Given the description of an element on the screen output the (x, y) to click on. 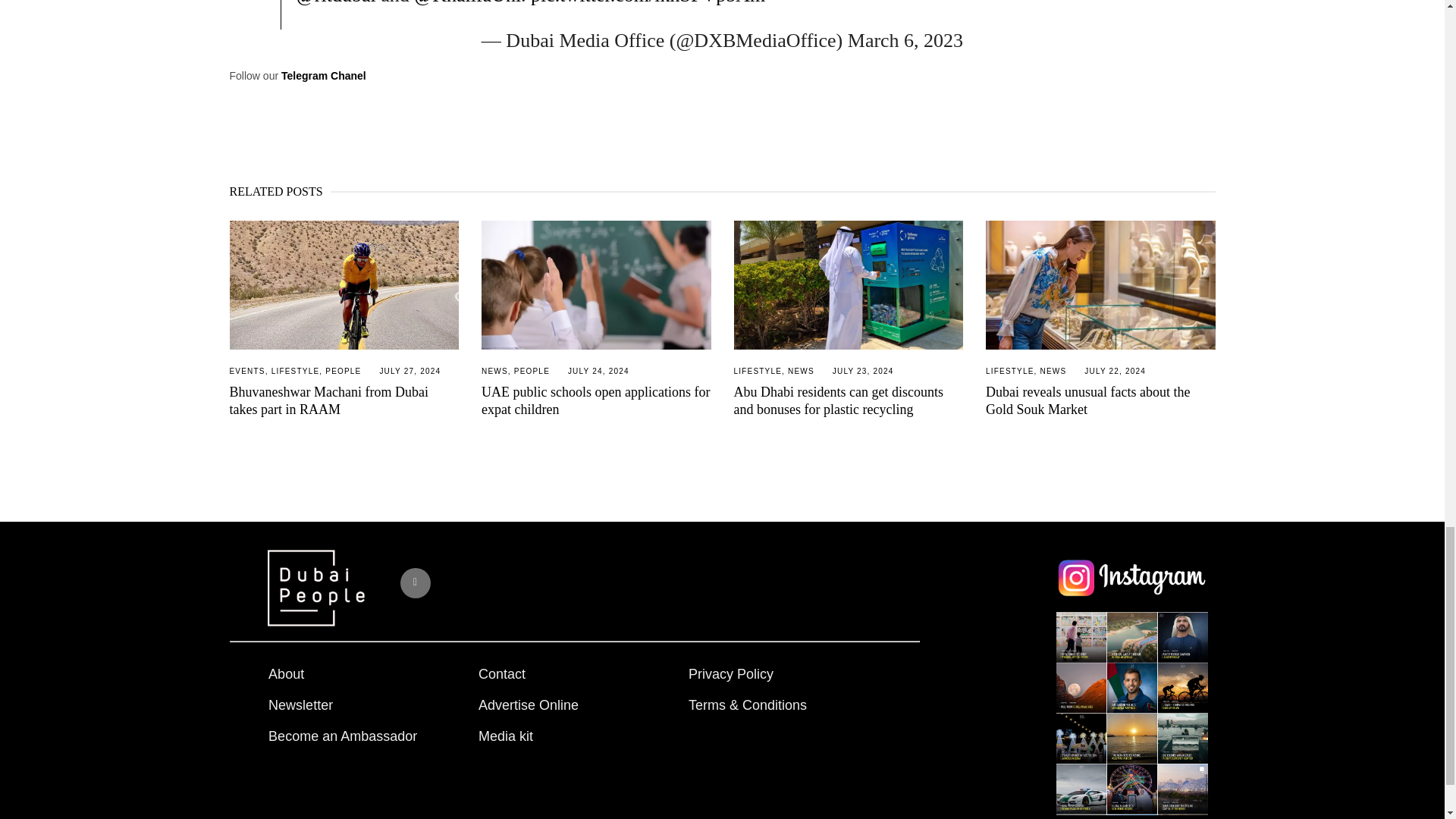
Bhuvaneshwar Machani from Dubai takes part in RAAM (343, 285)
Dubai reveals unusual facts about the Gold Souk Market (1100, 285)
Dubai reveals unusual facts about the Gold Souk Market (1087, 400)
Bhuvaneshwar Machani from Dubai takes part in RAAM (328, 400)
Instagram (415, 583)
UAE public schools open applications for expat children (596, 285)
UAE public schools open applications for expat children (595, 400)
